Given the description of an element on the screen output the (x, y) to click on. 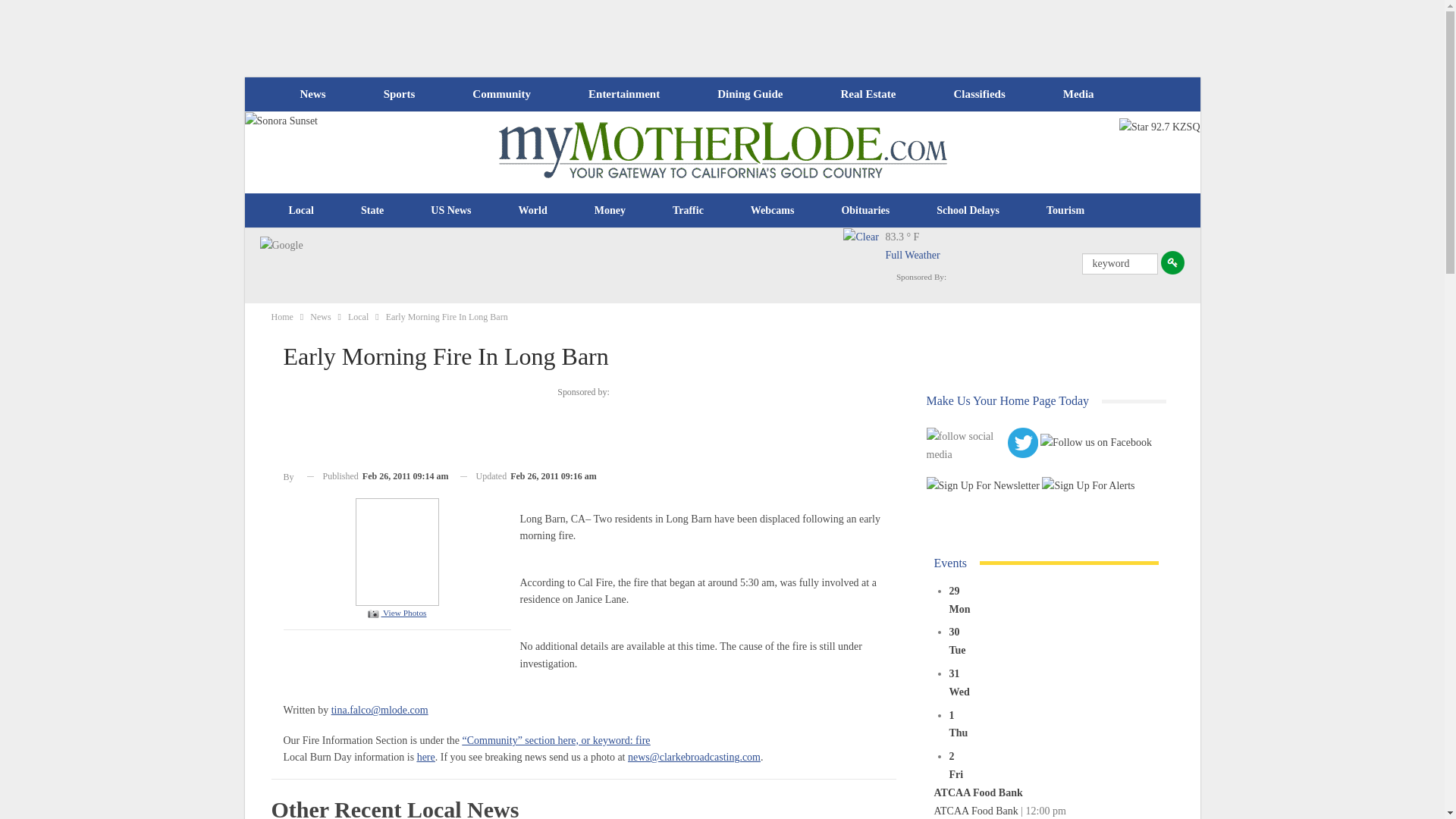
World (532, 210)
Community (501, 93)
Classifieds (979, 93)
Obituaries (865, 210)
School Delays (967, 210)
US News (451, 210)
Money (609, 210)
Sports (399, 93)
keyword (1119, 263)
Clear (864, 249)
Entertainment (624, 93)
Real Estate (868, 93)
News (312, 93)
